Given the description of an element on the screen output the (x, y) to click on. 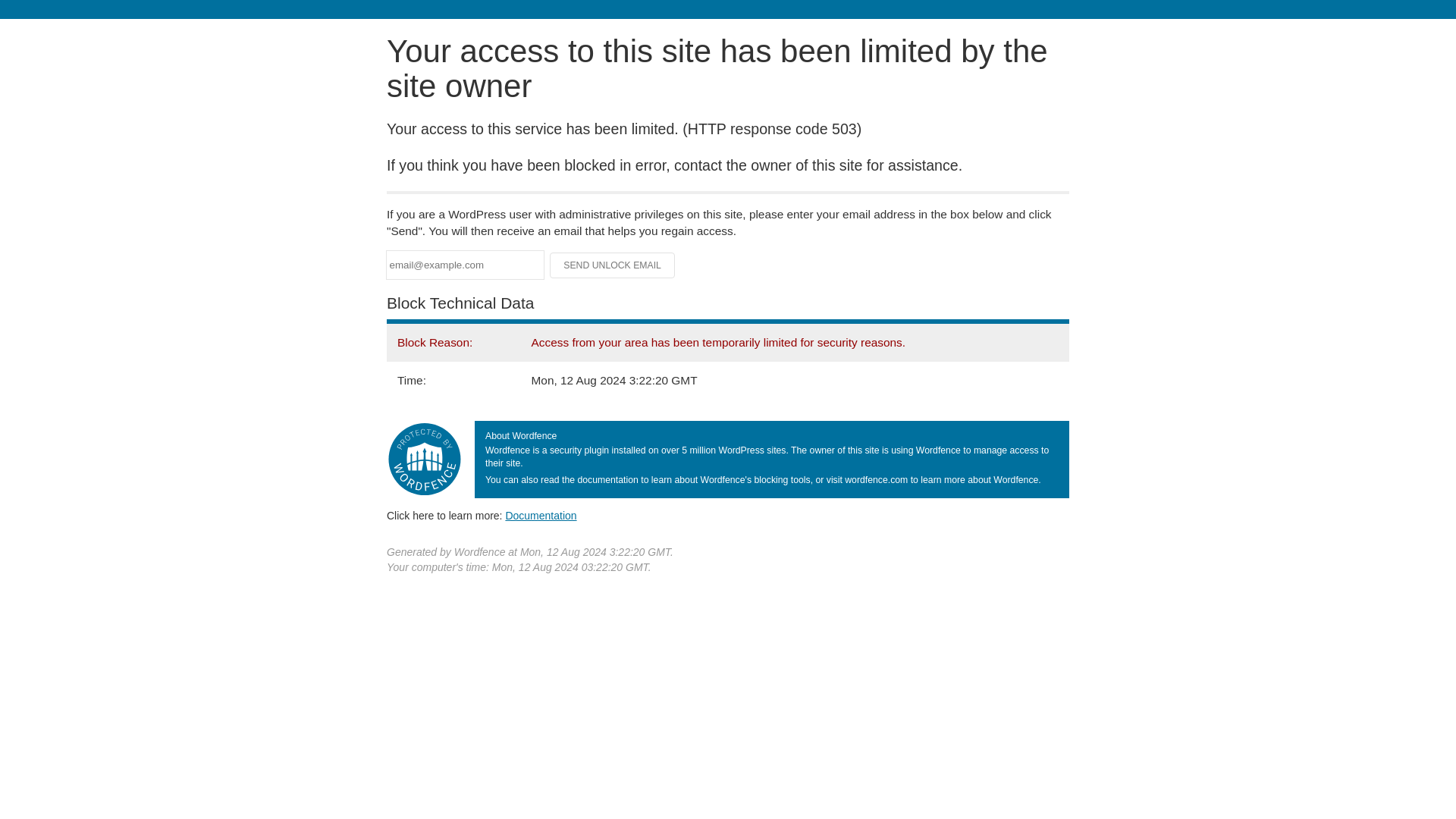
Send Unlock Email (612, 265)
Documentation (540, 515)
Send Unlock Email (612, 265)
